Given the description of an element on the screen output the (x, y) to click on. 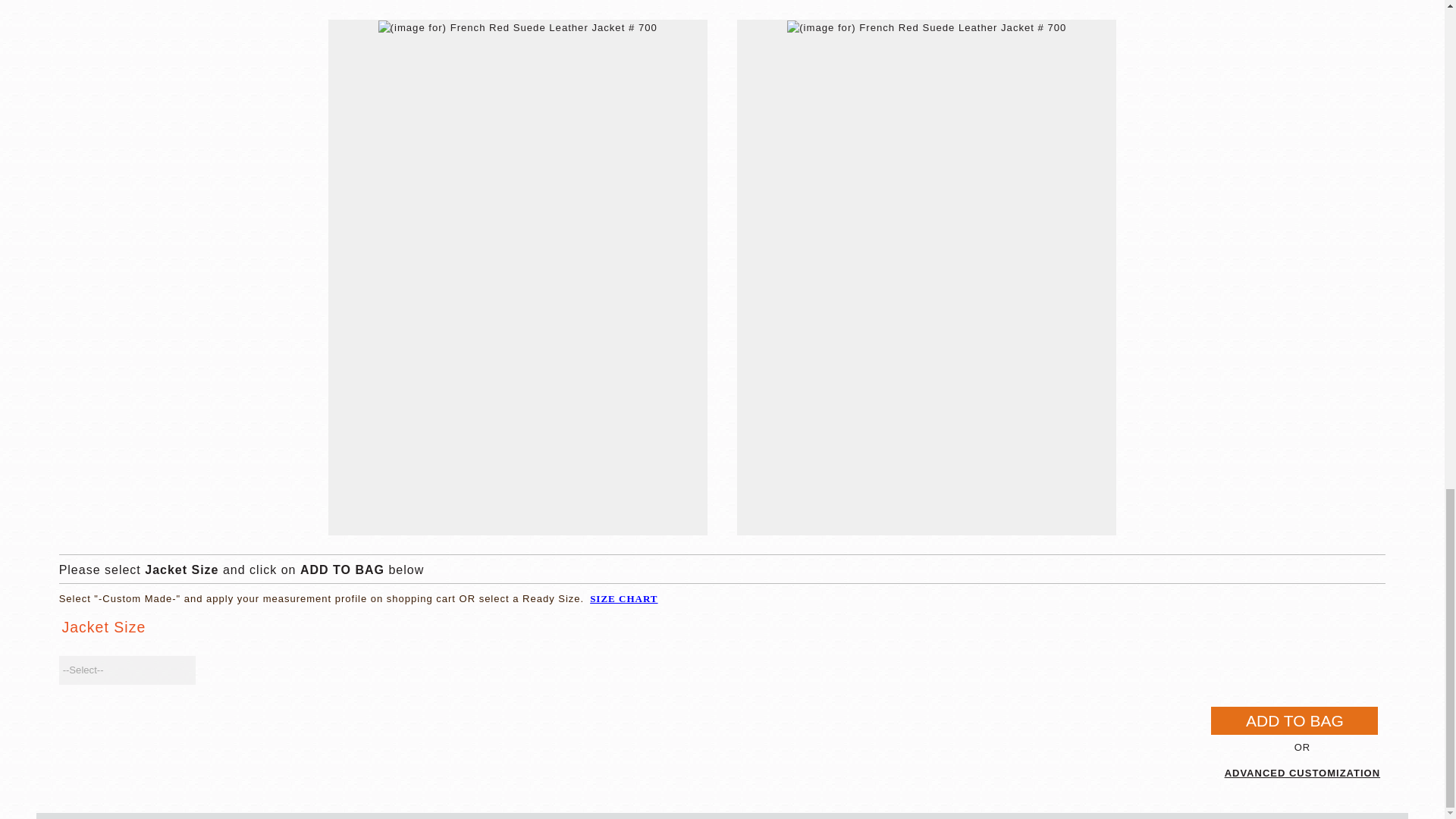
Add to Bag (1294, 720)
